Given the description of an element on the screen output the (x, y) to click on. 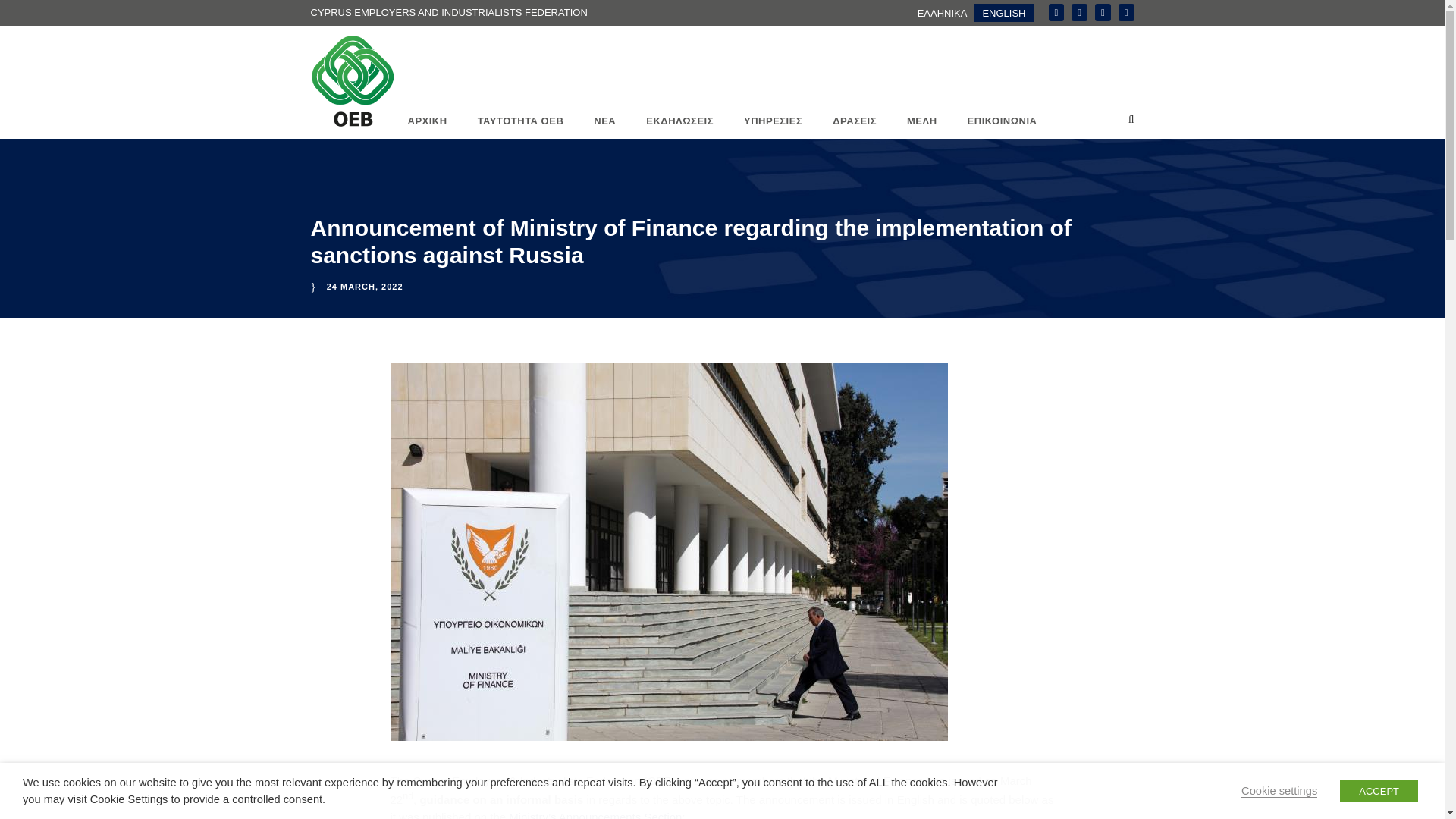
linkedin (1079, 12)
twitter (1102, 12)
youtube (1126, 12)
facebook (1056, 12)
logo (352, 81)
